Given the description of an element on the screen output the (x, y) to click on. 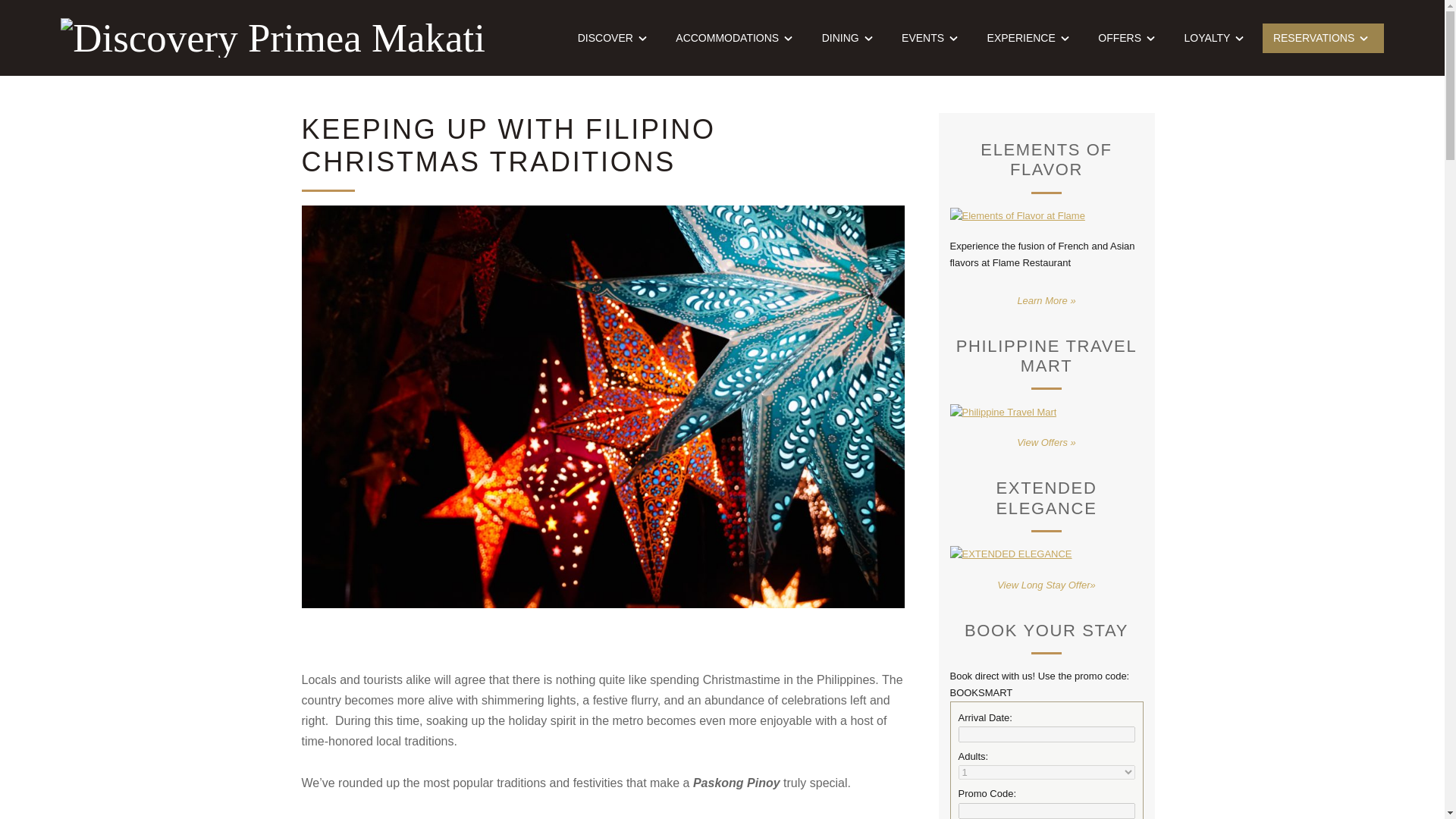
LOYALTY (1216, 37)
EXTENDED ELEGANCE (1010, 553)
Philippine Travel Mart (1003, 410)
EXPERIENCE (1030, 37)
DINING (849, 37)
EVENTS (932, 37)
ELEMENTS OF FLAVOR (1016, 215)
OFFERS (1128, 37)
ACCOMMODATIONS (736, 37)
DISCOVER (614, 37)
